Given the description of an element on the screen output the (x, y) to click on. 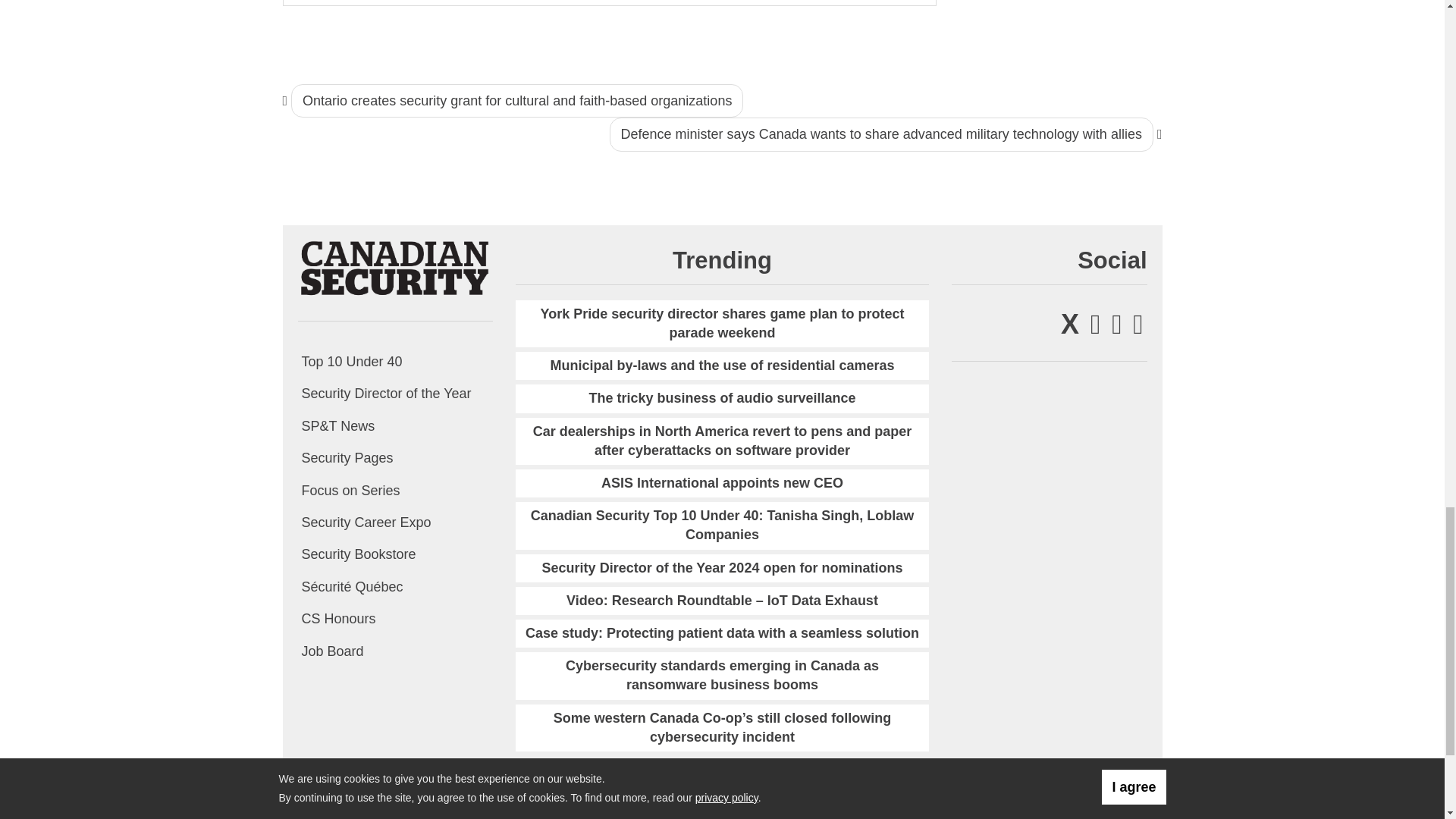
Canadian Security Magazine (395, 267)
3rd party ad content (1060, 26)
Annex Business Media (1077, 814)
